Given the description of an element on the screen output the (x, y) to click on. 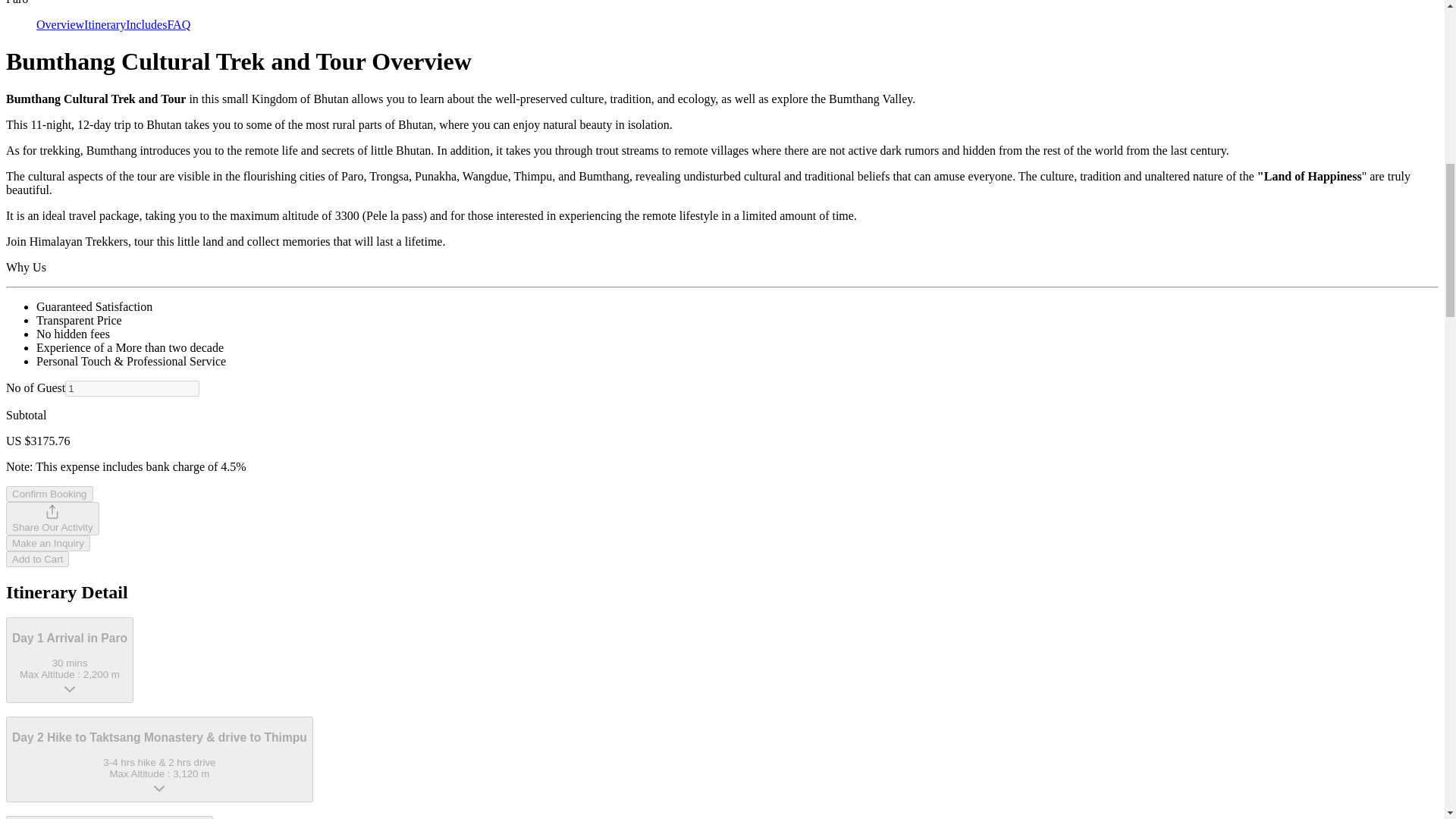
1 (132, 388)
Make an Inquiry (47, 543)
Itinerary (104, 24)
Add to Cart (36, 559)
FAQ (69, 659)
Includes (178, 24)
Overview (146, 24)
Share Our Activity (60, 24)
Confirm Booking (52, 518)
